Given the description of an element on the screen output the (x, y) to click on. 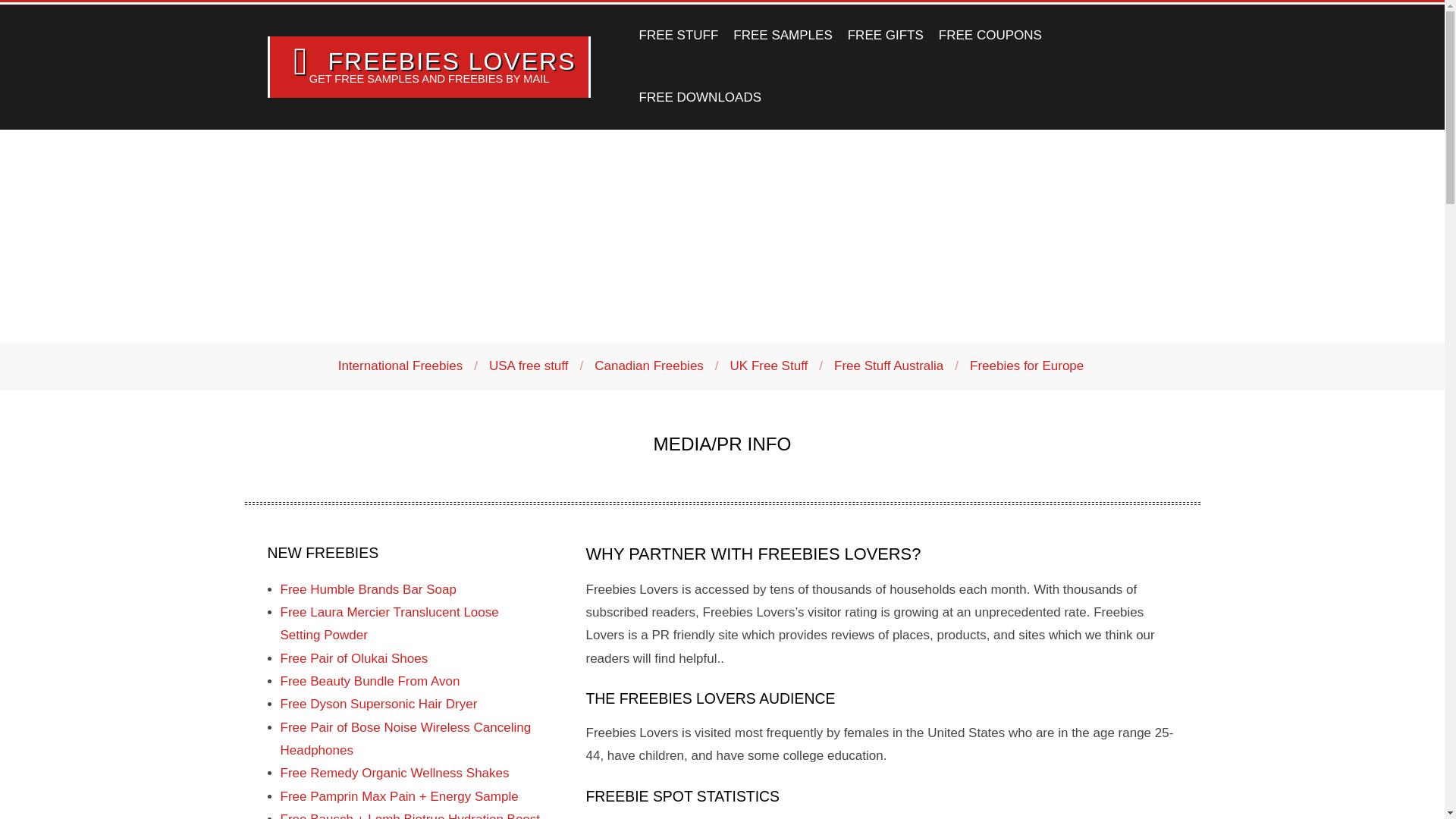
Free Laura Mercier Translucent Loose Setting Powder (390, 623)
FREE STUFF (677, 35)
International Freebies (400, 365)
Freebies for Europe (1026, 365)
Free Humble Brands Bar Soap (369, 589)
FREE DOWNLOADS (699, 97)
Free Beauty Bundle From Avon (370, 681)
Free Remedy Organic Wellness Shakes (395, 772)
Free Stuff Australia (888, 365)
FREEBIES LOVERS (451, 61)
UK Free Stuff (769, 365)
Free Pair of Olukai Shoes (354, 658)
FREE COUPONS (990, 35)
Free Dyson Supersonic Hair Dryer (379, 703)
